Given the description of an element on the screen output the (x, y) to click on. 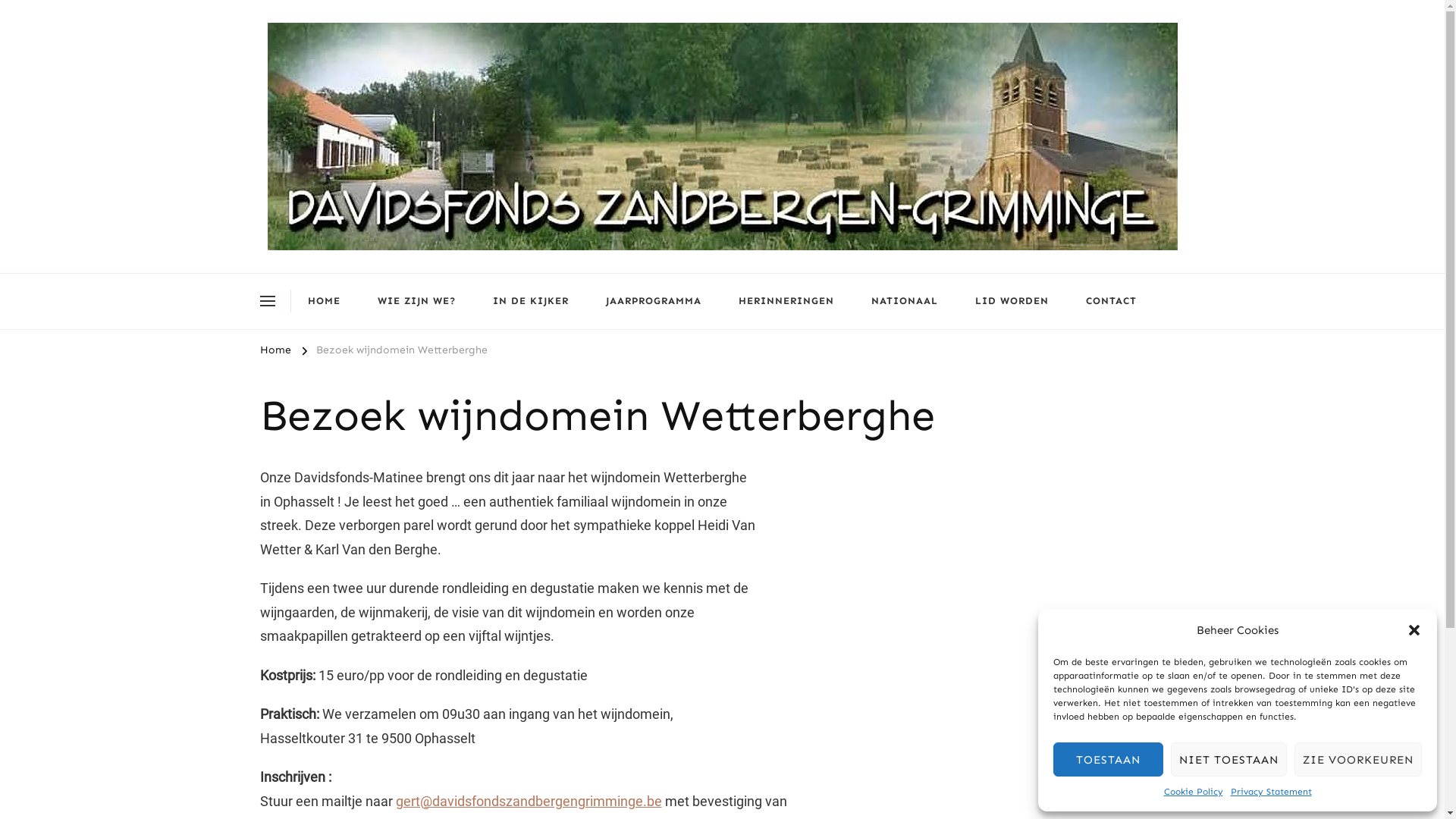
WIE ZIJN WE? Element type: text (416, 301)
JAARPROGRAMMA Element type: text (652, 301)
gert@davidsfondszandbergengrimminge.be Element type: text (528, 801)
IN DE KIJKER Element type: text (530, 301)
HERINNERINGEN Element type: text (785, 301)
Cookie Policy Element type: text (1192, 792)
CONTACT Element type: text (1111, 301)
TOESTAAN Element type: text (1108, 759)
Home Element type: text (274, 352)
NATIONAAL Element type: text (903, 301)
ZIE VOORKEUREN Element type: text (1357, 759)
Privacy Statement Element type: text (1270, 792)
Davidsfonds Zandbergen-Grimminge Element type: text (498, 267)
Bezoek wijndomein Wetterberghe Element type: text (400, 352)
NIET TOESTAAN Element type: text (1228, 759)
LID WORDEN Element type: text (1011, 301)
HOME Element type: text (324, 301)
